Given the description of an element on the screen output the (x, y) to click on. 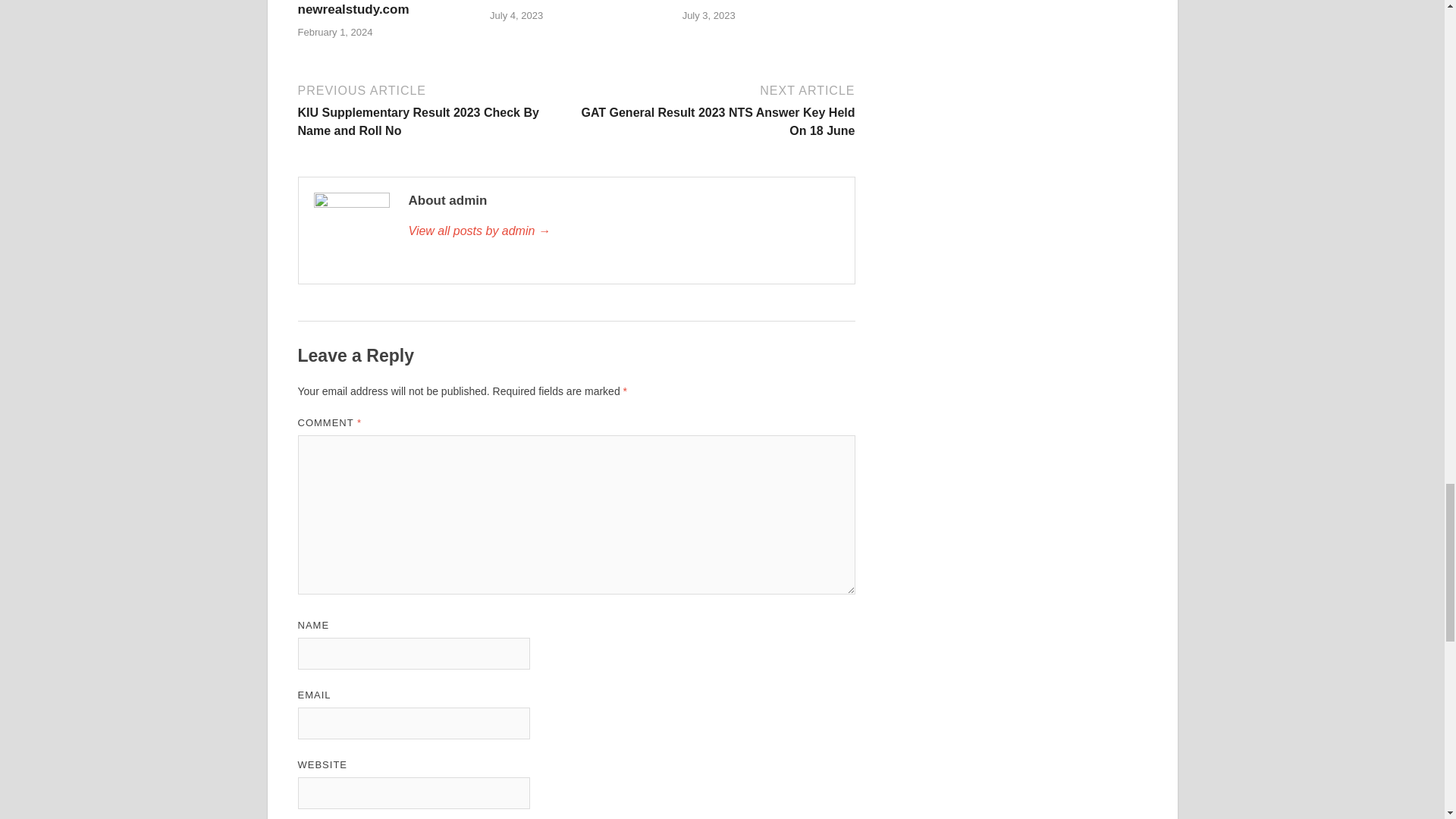
admin (622, 230)
